Given the description of an element on the screen output the (x, y) to click on. 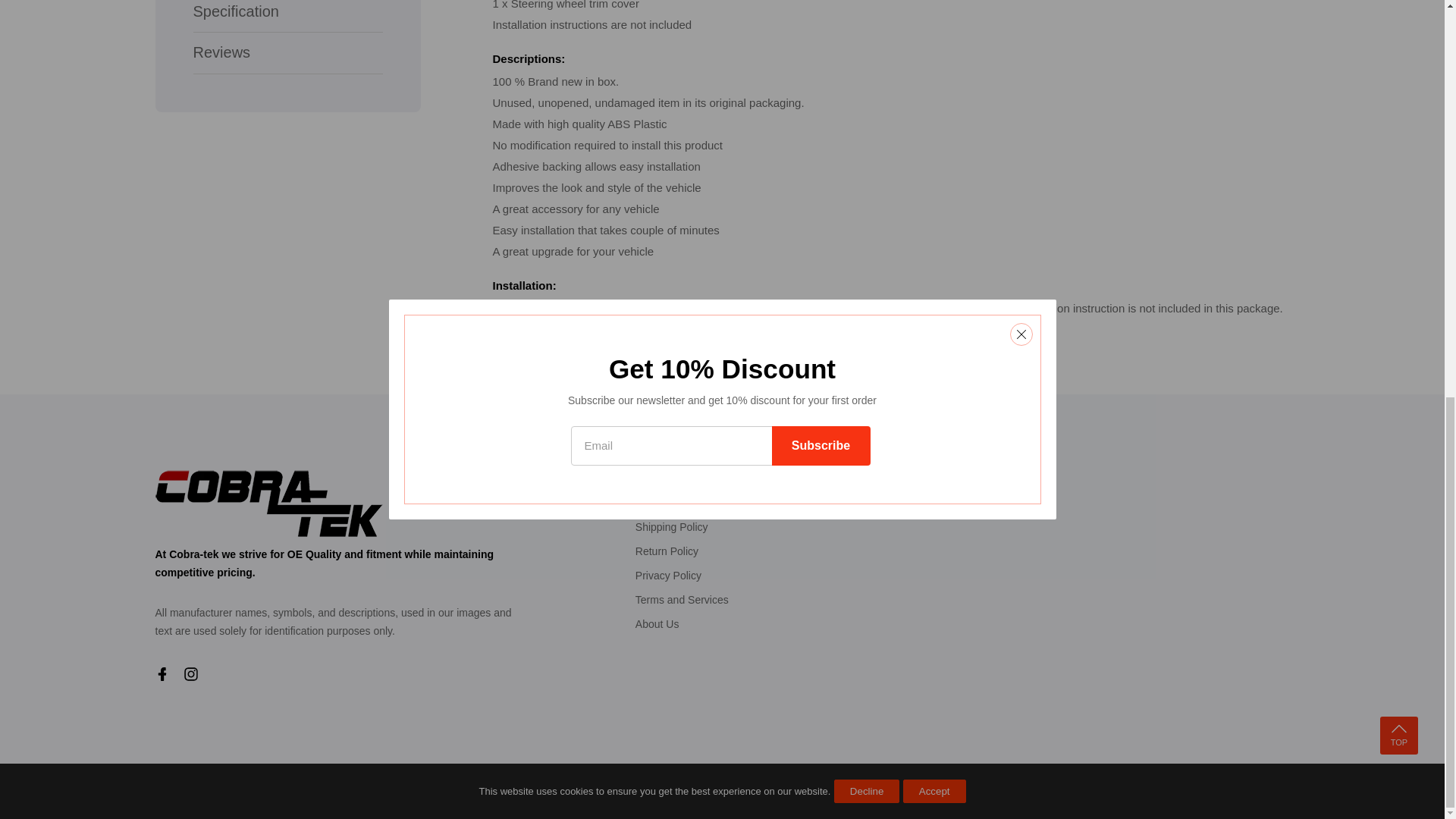
Accept (934, 21)
Decline (866, 21)
